Given the description of an element on the screen output the (x, y) to click on. 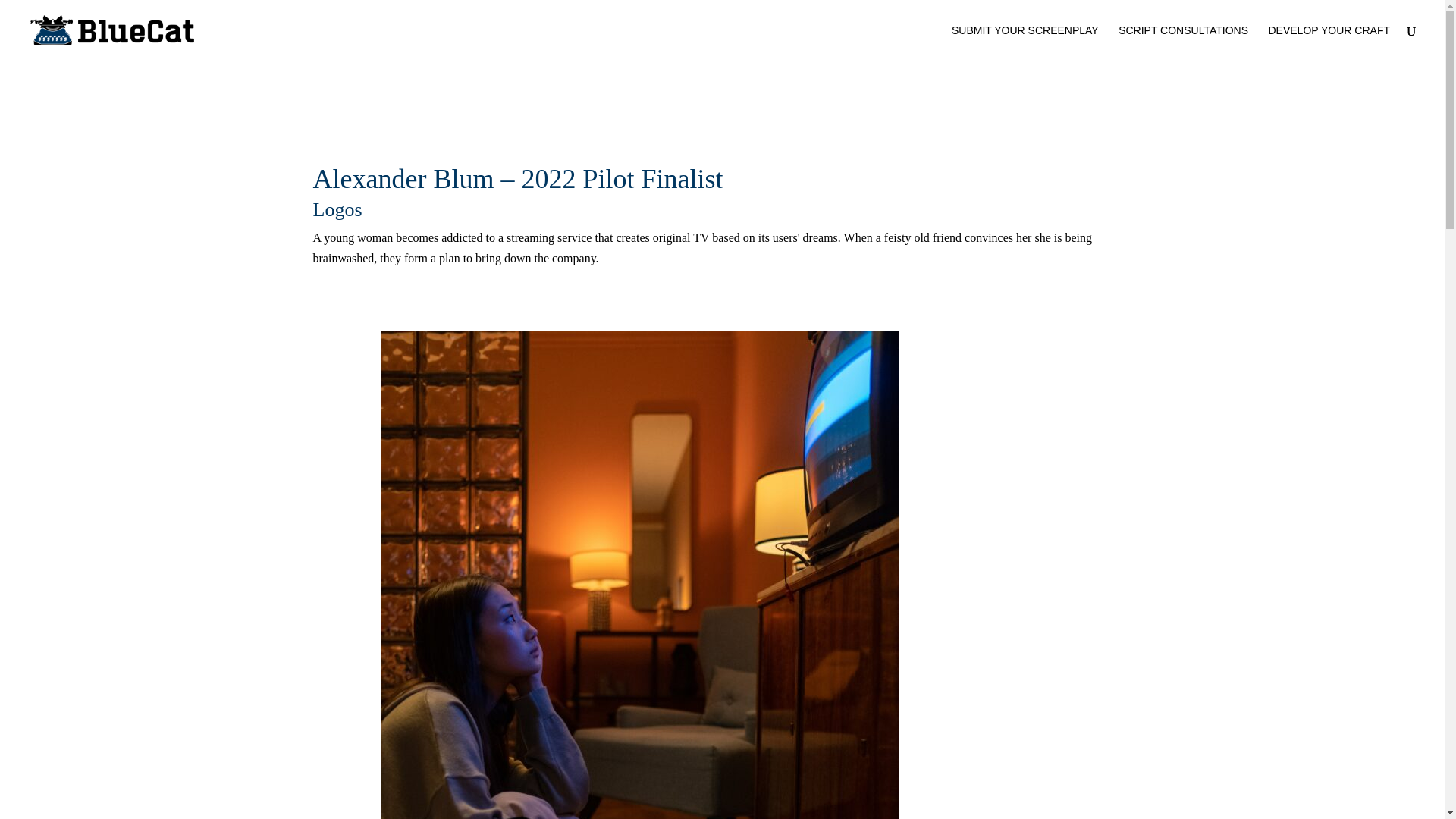
SUBMIT YOUR SCREENPLAY (1025, 42)
SCRIPT CONSULTATIONS (1182, 42)
DEVELOP YOUR CRAFT (1329, 42)
